Given the description of an element on the screen output the (x, y) to click on. 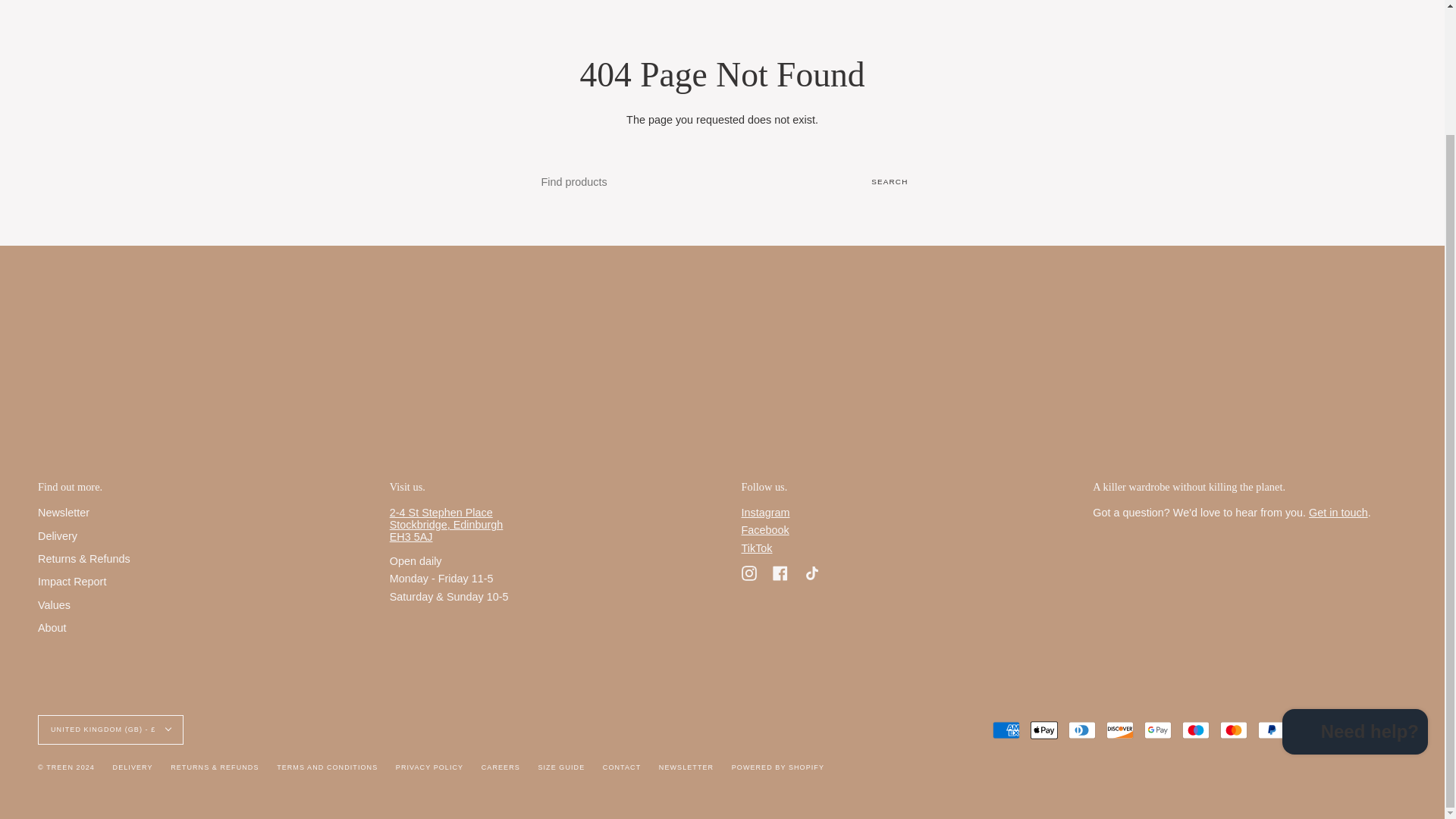
Shop Pay (1309, 730)
Discover (1120, 730)
Mastercard (1233, 730)
Union Pay (1347, 730)
treen on Facebook (780, 571)
Visa (1385, 730)
SALE (361, 3)
Apple Pay (1044, 730)
PayPal (1271, 730)
Diners Club (1082, 730)
